Given the description of an element on the screen output the (x, y) to click on. 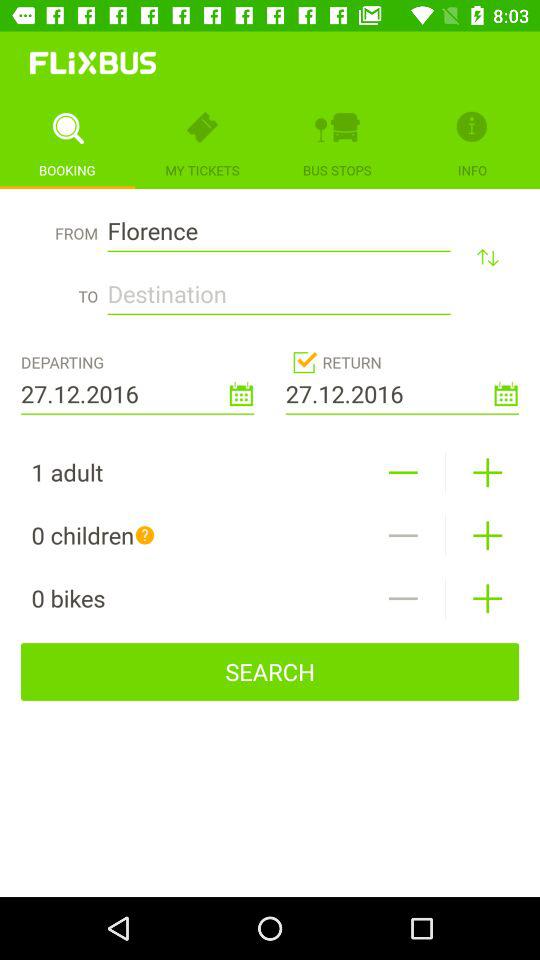
subtract option (402, 472)
